Given the description of an element on the screen output the (x, y) to click on. 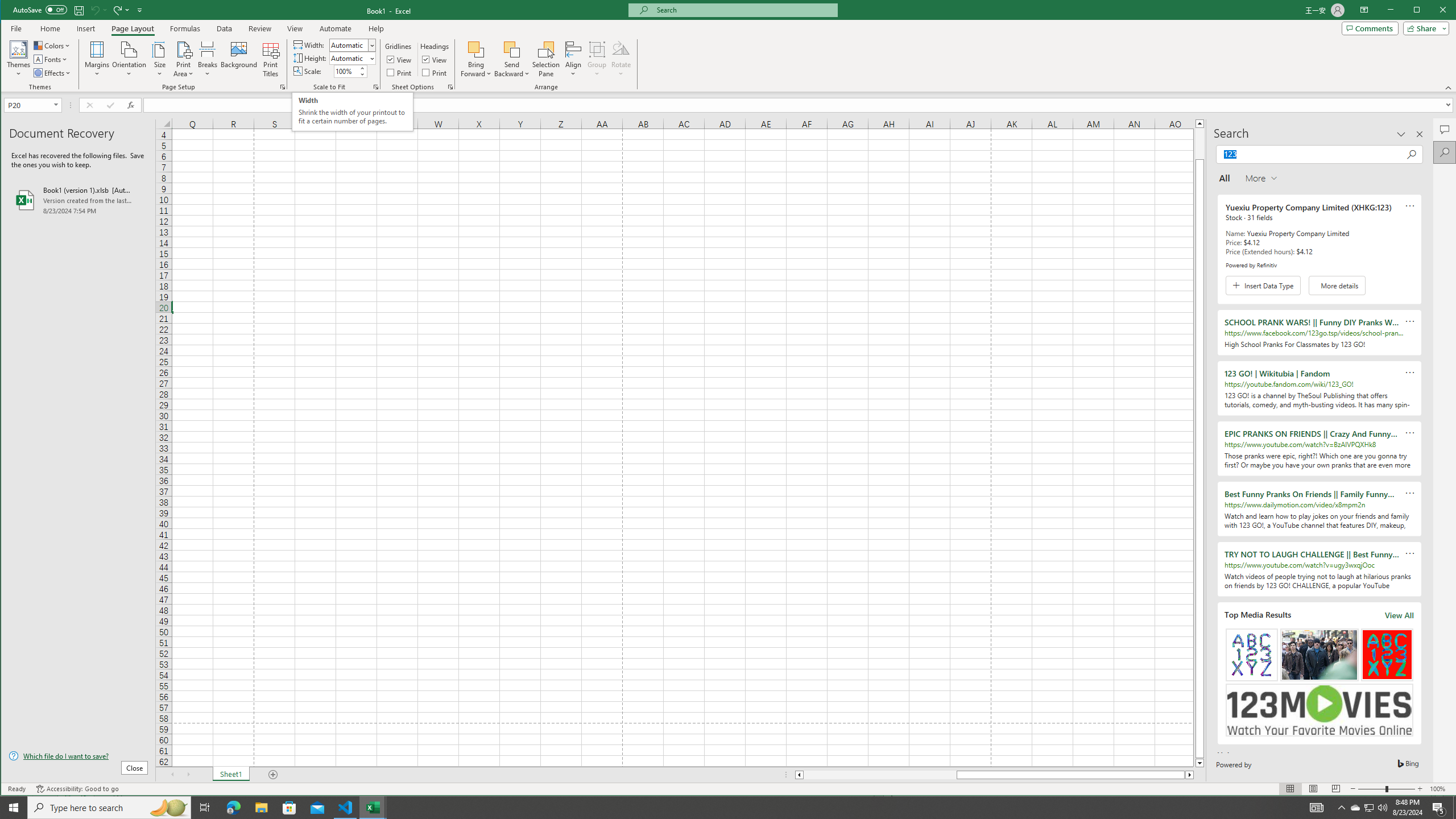
Selection Pane... (546, 59)
Search highlights icon opens search home window (167, 807)
Bring Forward (476, 48)
Microsoft Edge (1355, 807)
Sheet Options (233, 807)
Effects (449, 86)
Orientation (53, 72)
